Given the description of an element on the screen output the (x, y) to click on. 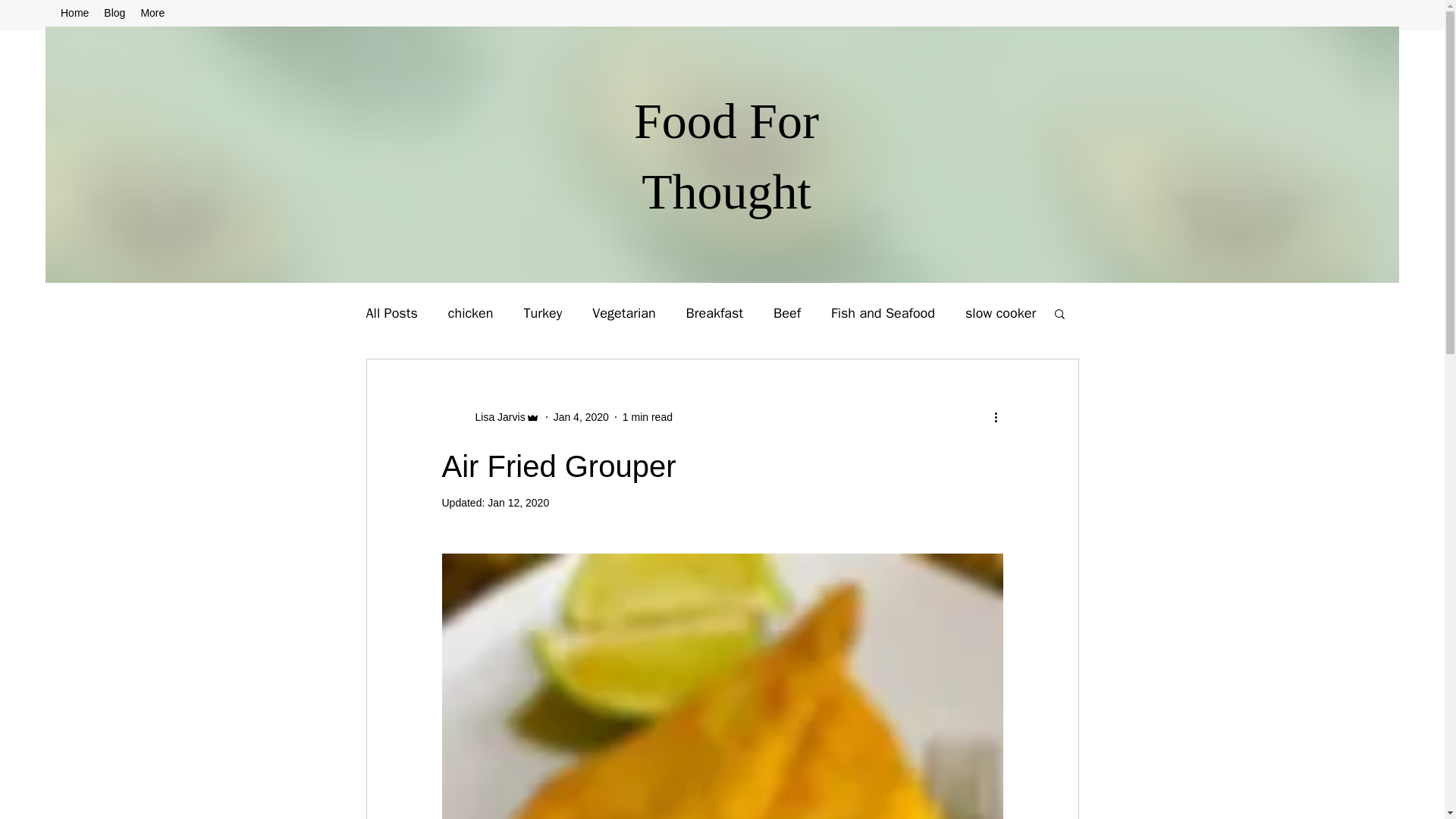
Fish and Seafood (882, 312)
All Posts (390, 312)
Home (74, 15)
Jan 4, 2020 (580, 417)
Vegetarian (623, 312)
Turkey (542, 312)
Blog (114, 15)
chicken (470, 312)
Lisa Jarvis (494, 417)
slow cooker (1000, 312)
